Given the description of an element on the screen output the (x, y) to click on. 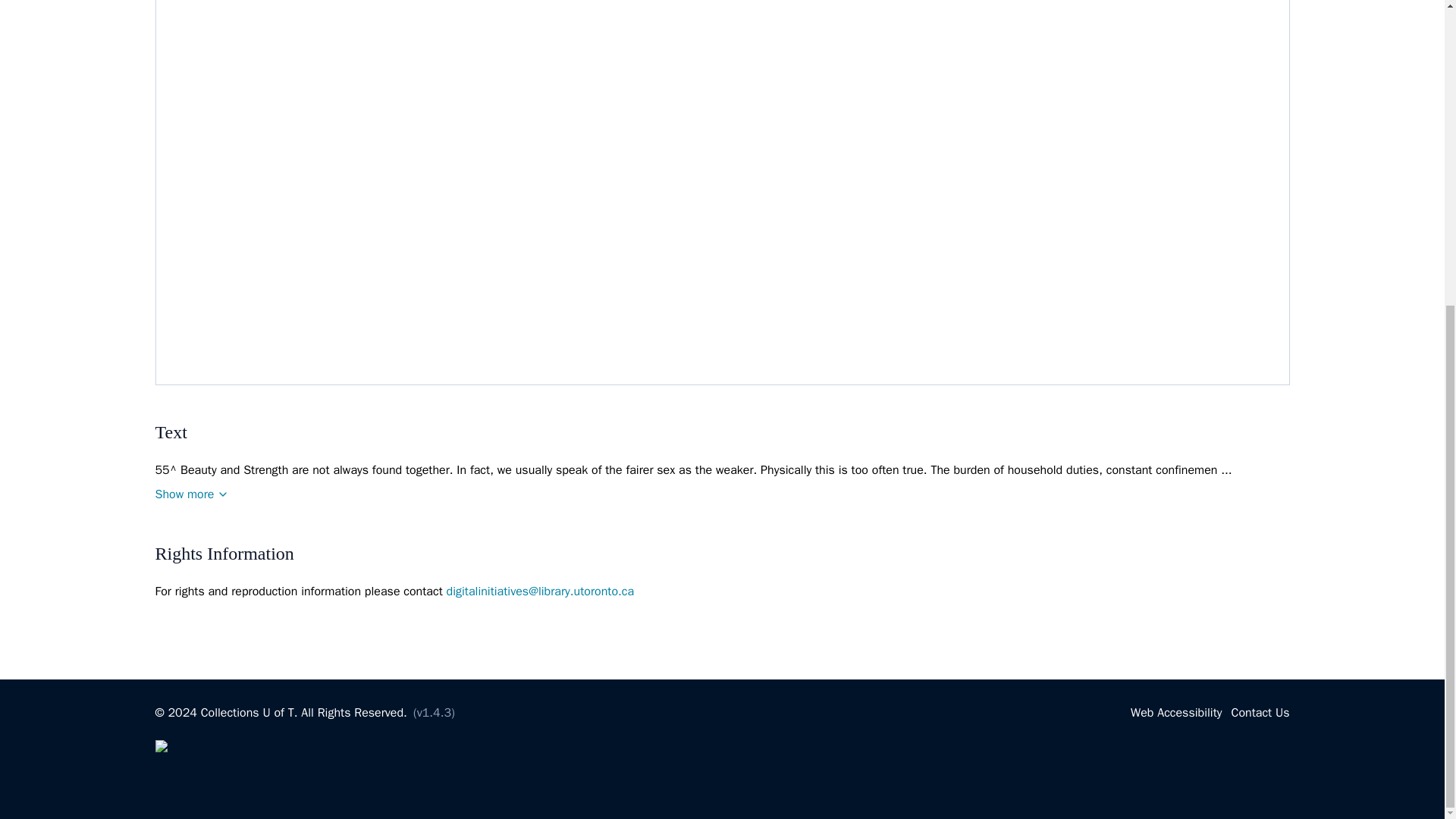
Contact Us (1259, 712)
Send email (540, 590)
Collections U of T (247, 712)
Show more (191, 494)
Web Accessibility (1176, 712)
